Given the description of an element on the screen output the (x, y) to click on. 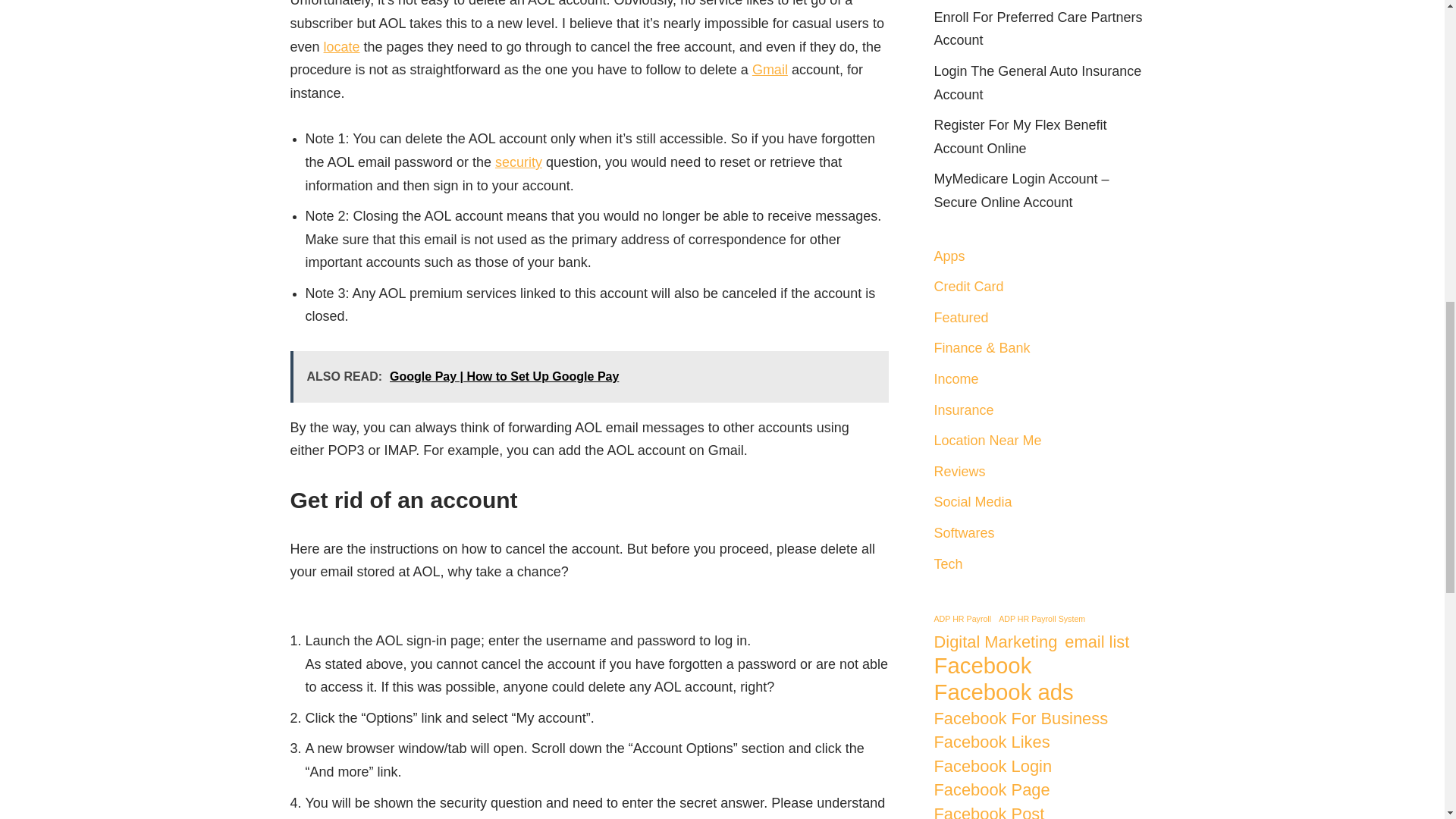
security (518, 161)
Gmail (769, 69)
locate (341, 46)
